Given the description of an element on the screen output the (x, y) to click on. 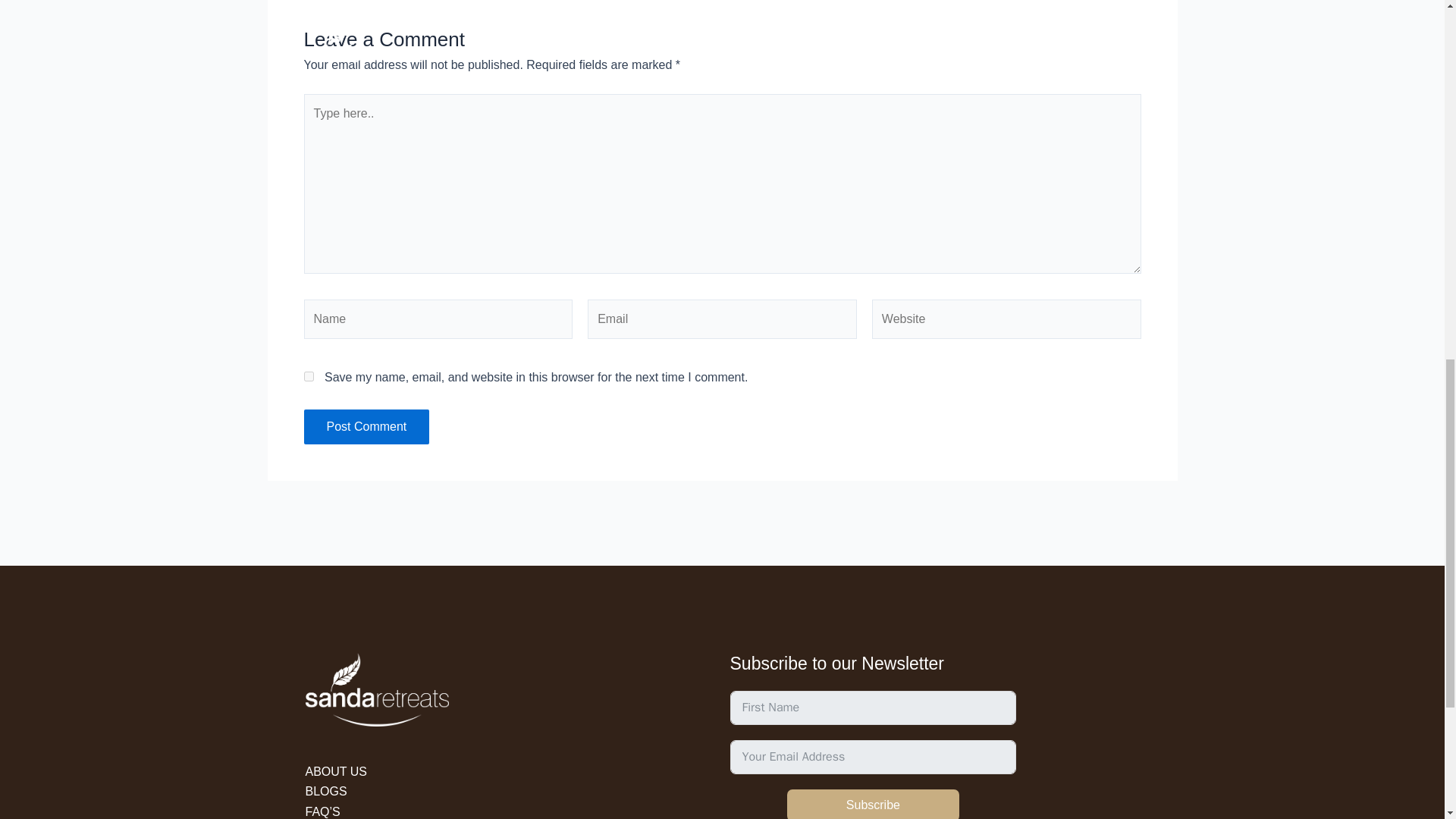
Subscribe (873, 804)
BLOGS (325, 790)
yes (307, 376)
Post Comment (365, 426)
Post Comment (365, 426)
ABOUT US (335, 771)
